Given the description of an element on the screen output the (x, y) to click on. 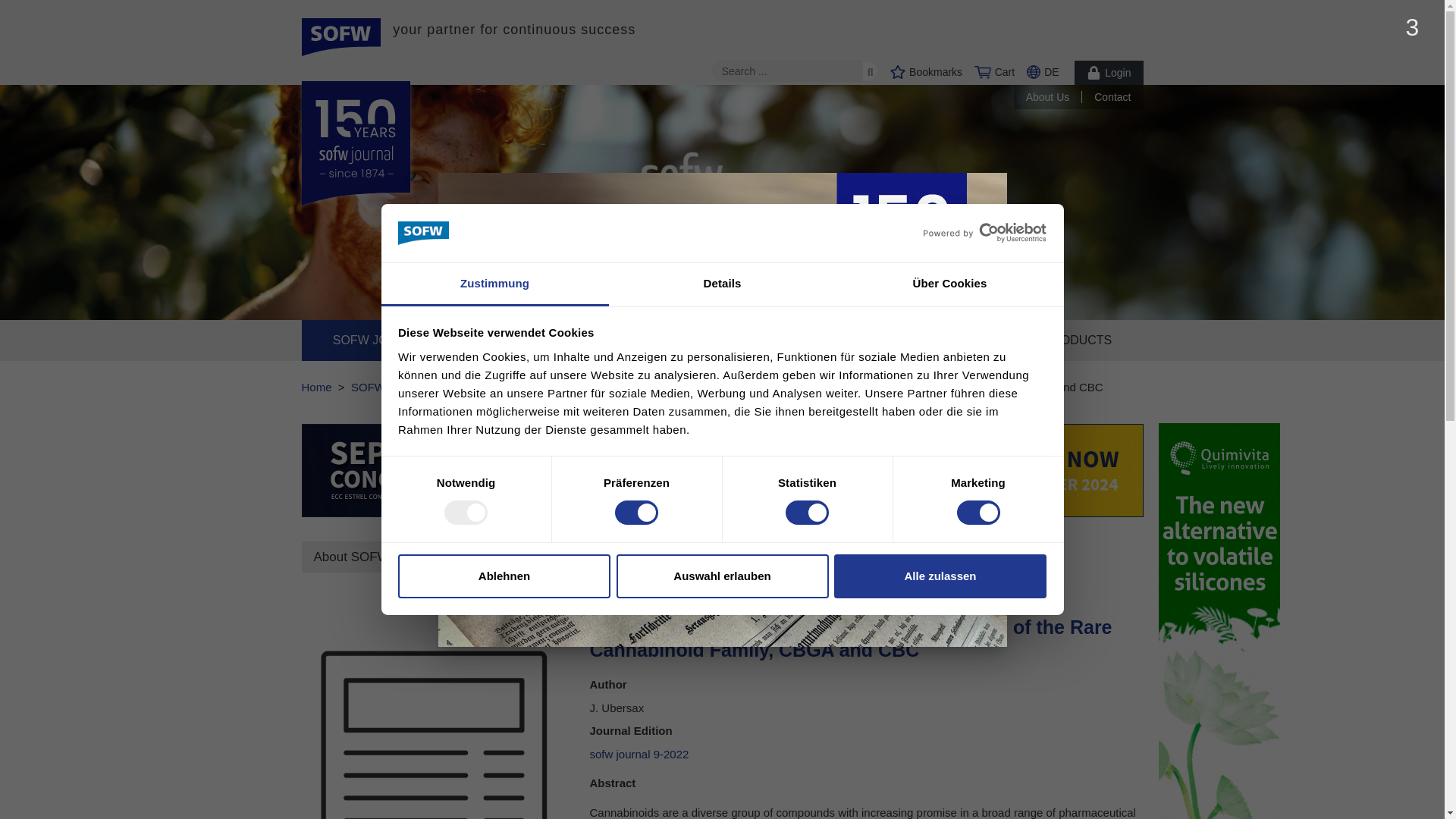
Contact (1118, 96)
About Us (1054, 96)
Auswahl erlauben (721, 576)
Cart (994, 71)
SOFW JOURNAL (381, 340)
Details (721, 284)
Bookmarks (925, 71)
DE (1042, 71)
Ablehnen (503, 576)
Login (1108, 72)
